Given the description of an element on the screen output the (x, y) to click on. 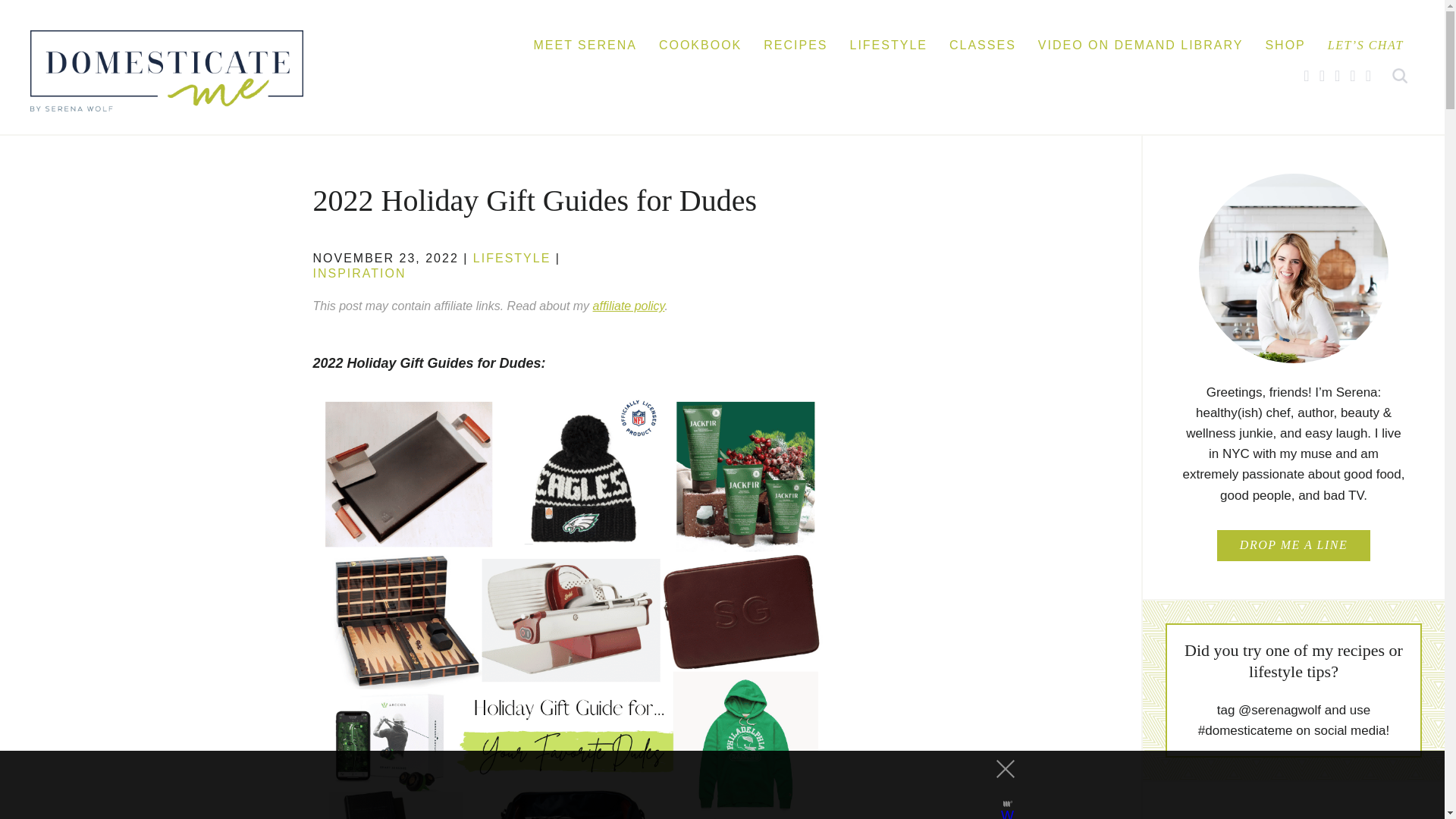
CLASSES (982, 43)
affiliate policy (628, 305)
RECIPES (794, 43)
LIFESTYLE (887, 43)
COOKBOOK (700, 43)
domesticate-me (166, 70)
SHOP (1284, 43)
3rd party ad content (708, 785)
LIFESTYLE (511, 257)
INSPIRATION (359, 273)
VIDEO ON DEMAND LIBRARY (1140, 43)
MEET SERENA (584, 43)
